Given the description of an element on the screen output the (x, y) to click on. 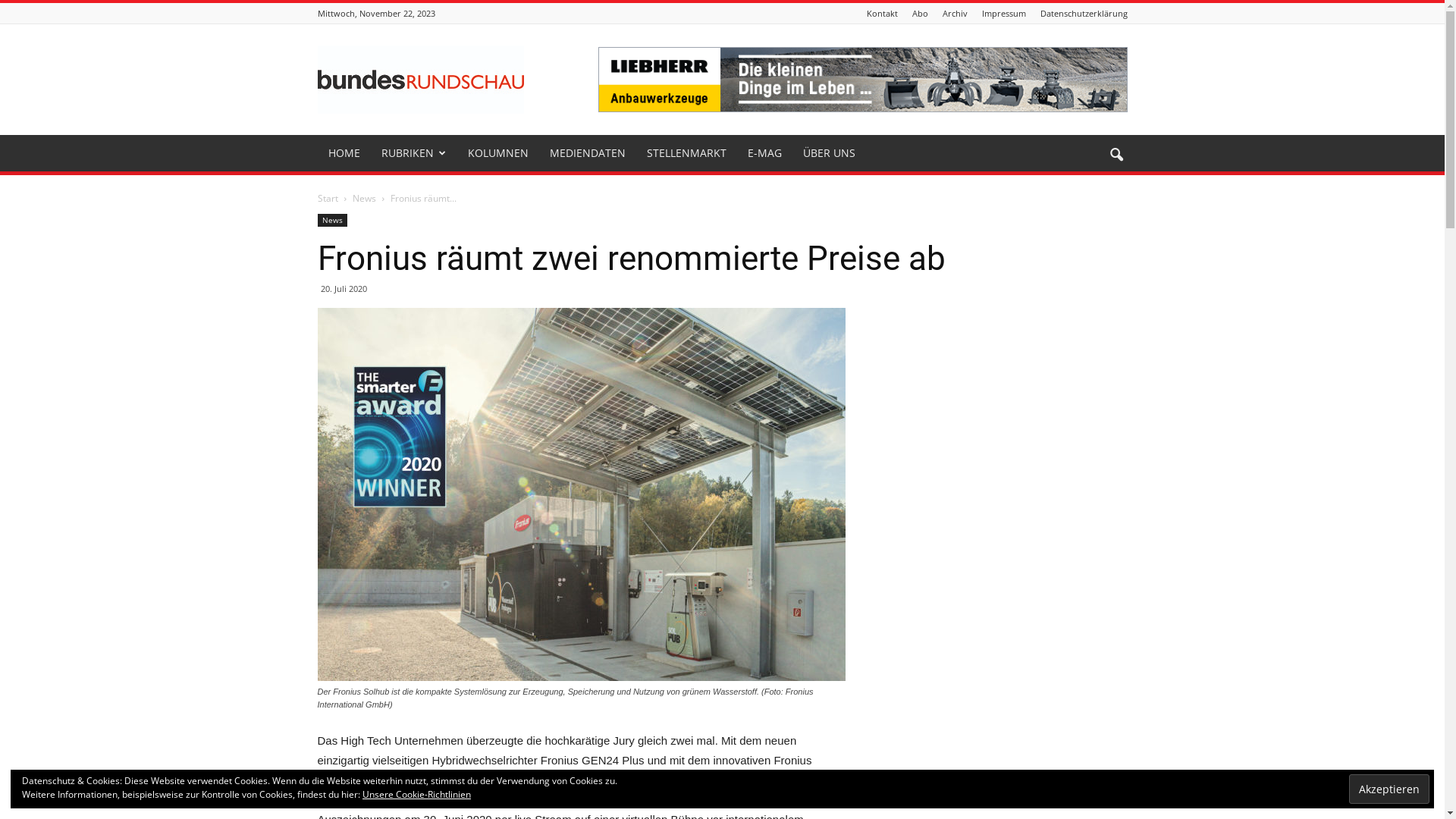
Start Element type: text (327, 197)
Archiv Element type: text (953, 12)
News Element type: text (364, 197)
Abo Element type: text (919, 12)
HOME Element type: text (343, 152)
STELLENMARKT Element type: text (685, 152)
Impressum Element type: text (1003, 12)
Kontakt Element type: text (881, 12)
bundesRUNDSCHAU Element type: hover (419, 79)
News Element type: text (331, 219)
Unsere Cookie-Richtlinien Element type: text (416, 793)
E-MAG Element type: text (764, 152)
RUBRIKEN Element type: text (413, 152)
Akzeptieren Element type: text (1389, 788)
MEDIENDATEN Element type: text (586, 152)
KOLUMNEN Element type: text (497, 152)
